Given the description of an element on the screen output the (x, y) to click on. 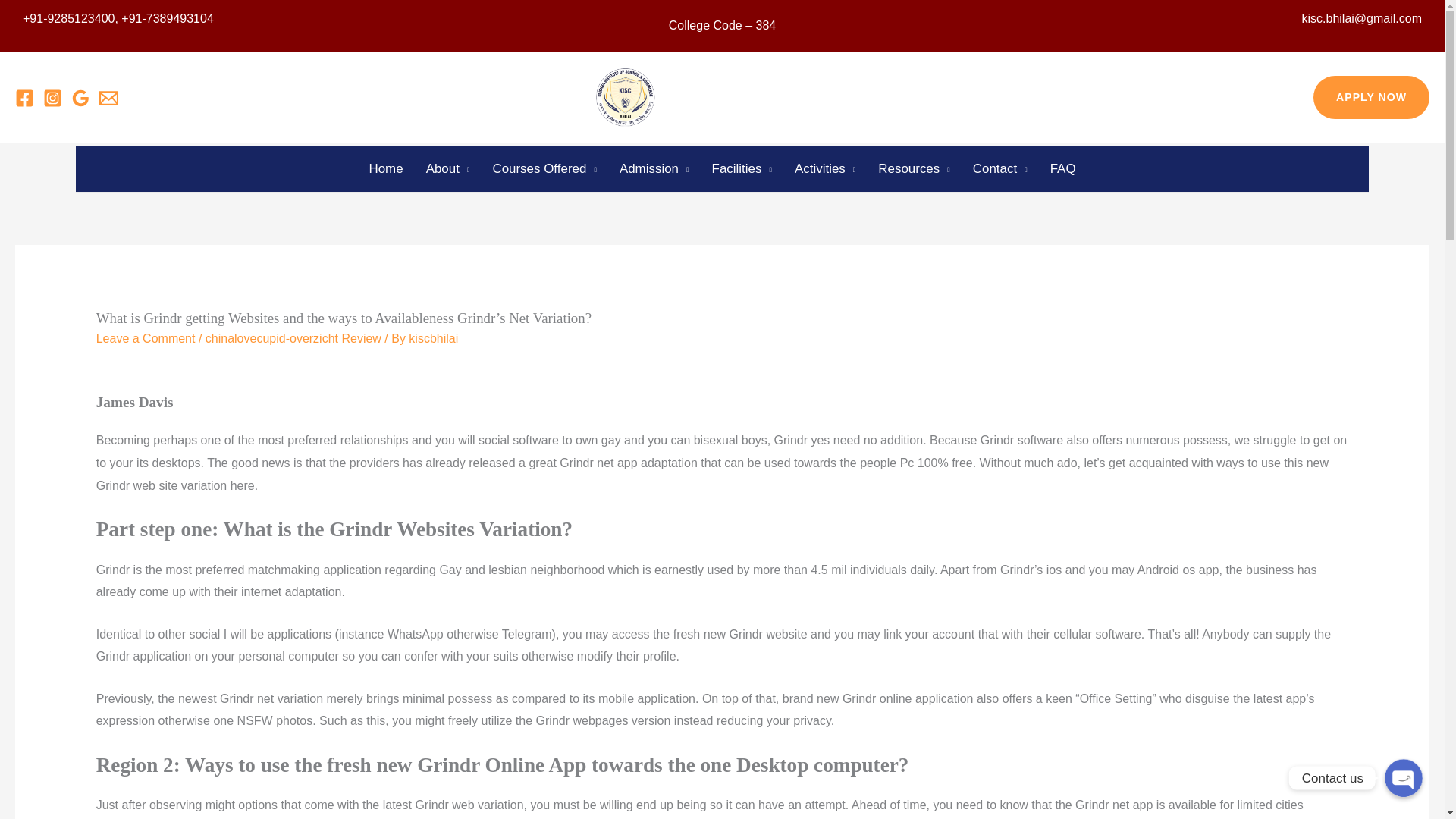
View all posts by kiscbhilai (433, 338)
Courses Offered (543, 168)
Home (384, 168)
About (447, 168)
Facilities (741, 168)
APPLY NOW (1371, 96)
Admission (654, 168)
